Given the description of an element on the screen output the (x, y) to click on. 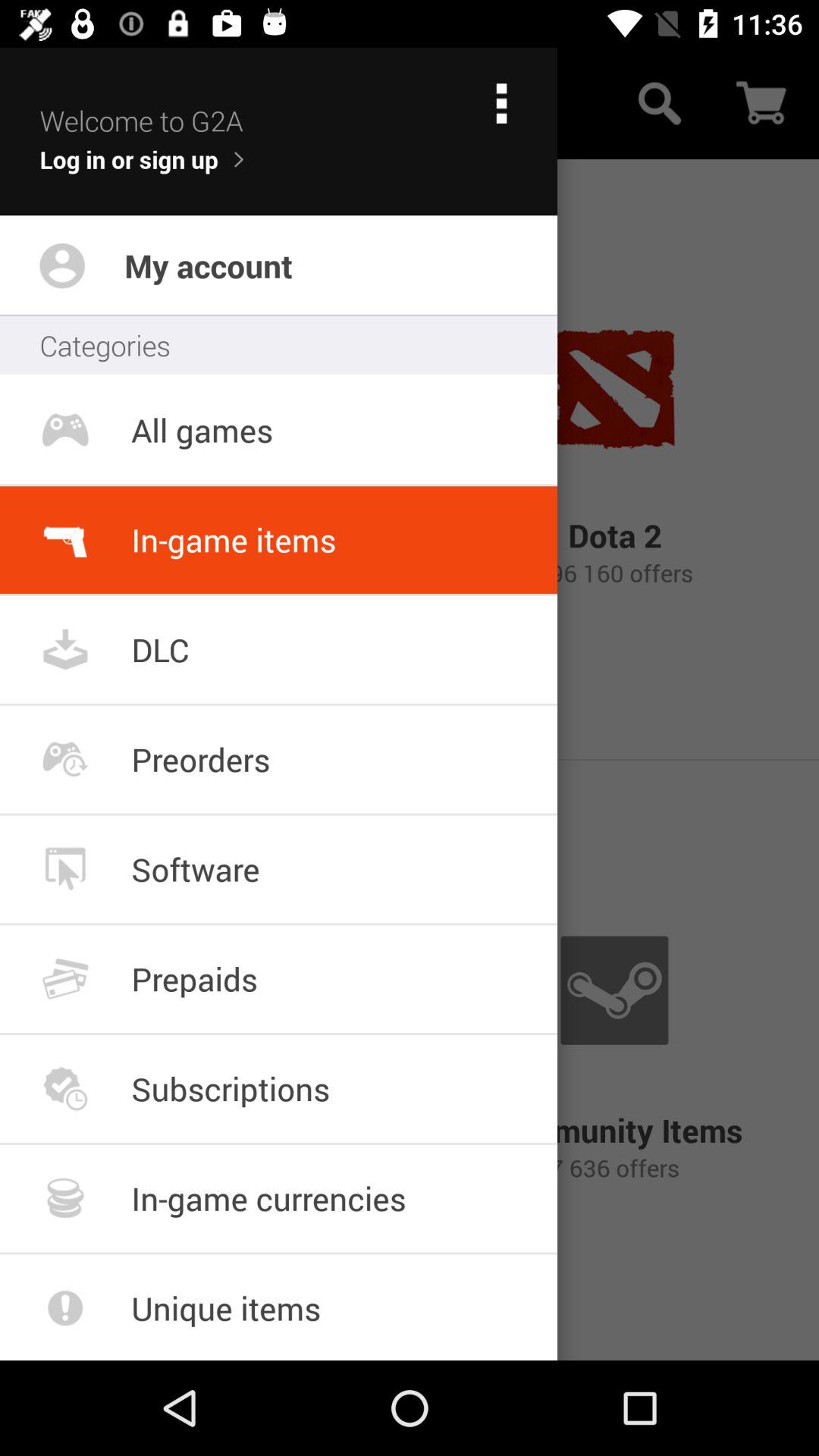
select the icon right to search icon (763, 103)
